Given the description of an element on the screen output the (x, y) to click on. 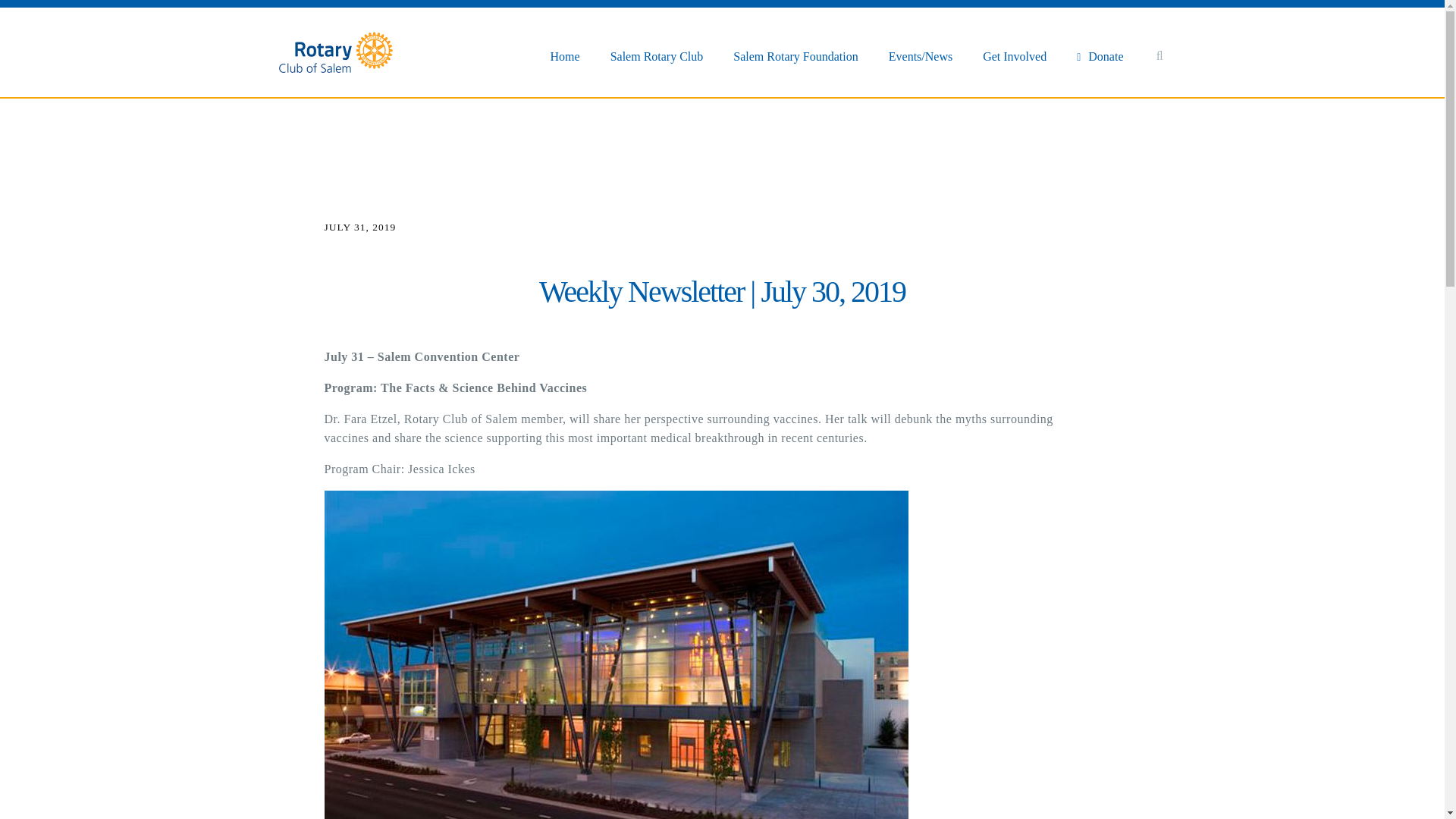
Home (564, 56)
Donation Page (1099, 56)
Salem Rotary Club (656, 56)
